Given the description of an element on the screen output the (x, y) to click on. 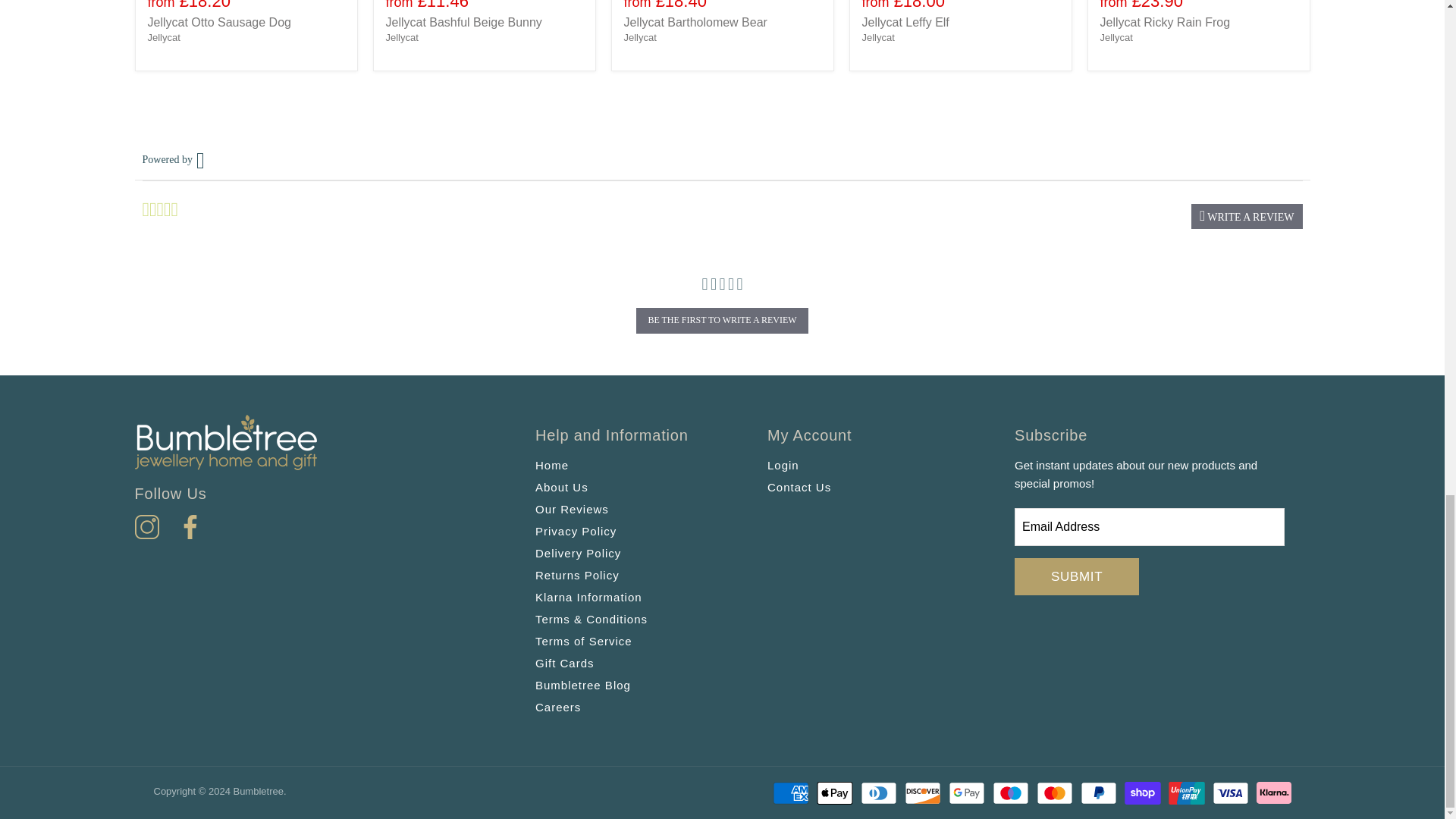
Jellycat (639, 37)
Jellycat (877, 37)
Jellycat (401, 37)
Jellycat (163, 37)
Jellycat (1115, 37)
